Given the description of an element on the screen output the (x, y) to click on. 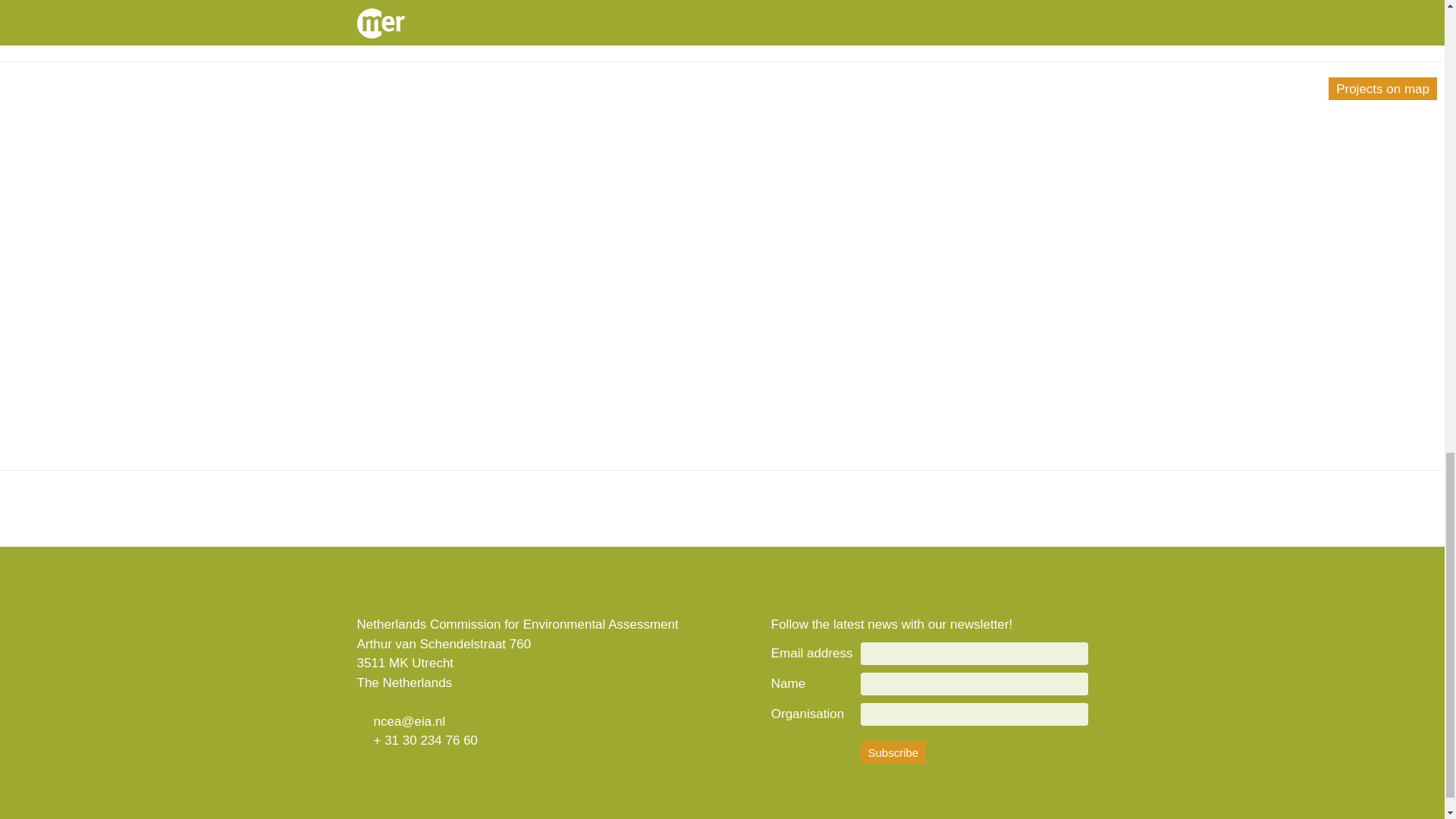
Projects on map (1382, 87)
Subscribe (893, 752)
Twitter (373, 779)
Youtube (414, 779)
